Given the description of an element on the screen output the (x, y) to click on. 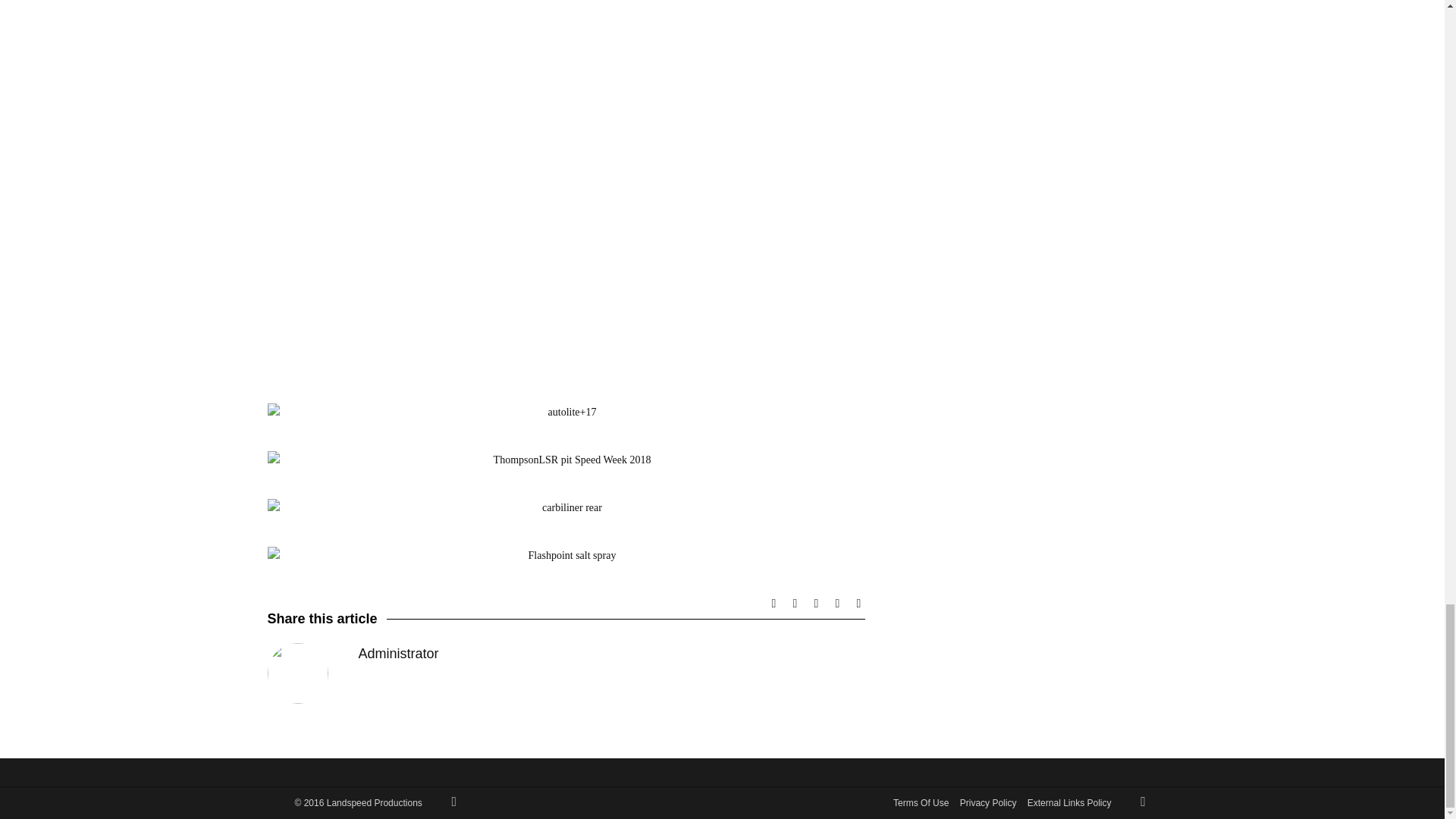
ThompsonLSR pit Speed Week 2018 (565, 460)
Flashpoint salt spray (565, 556)
UP! (453, 802)
Terms Of Use (921, 802)
UP! (1142, 802)
Privacy Policy (987, 802)
carbiliner rear (565, 507)
